Given the description of an element on the screen output the (x, y) to click on. 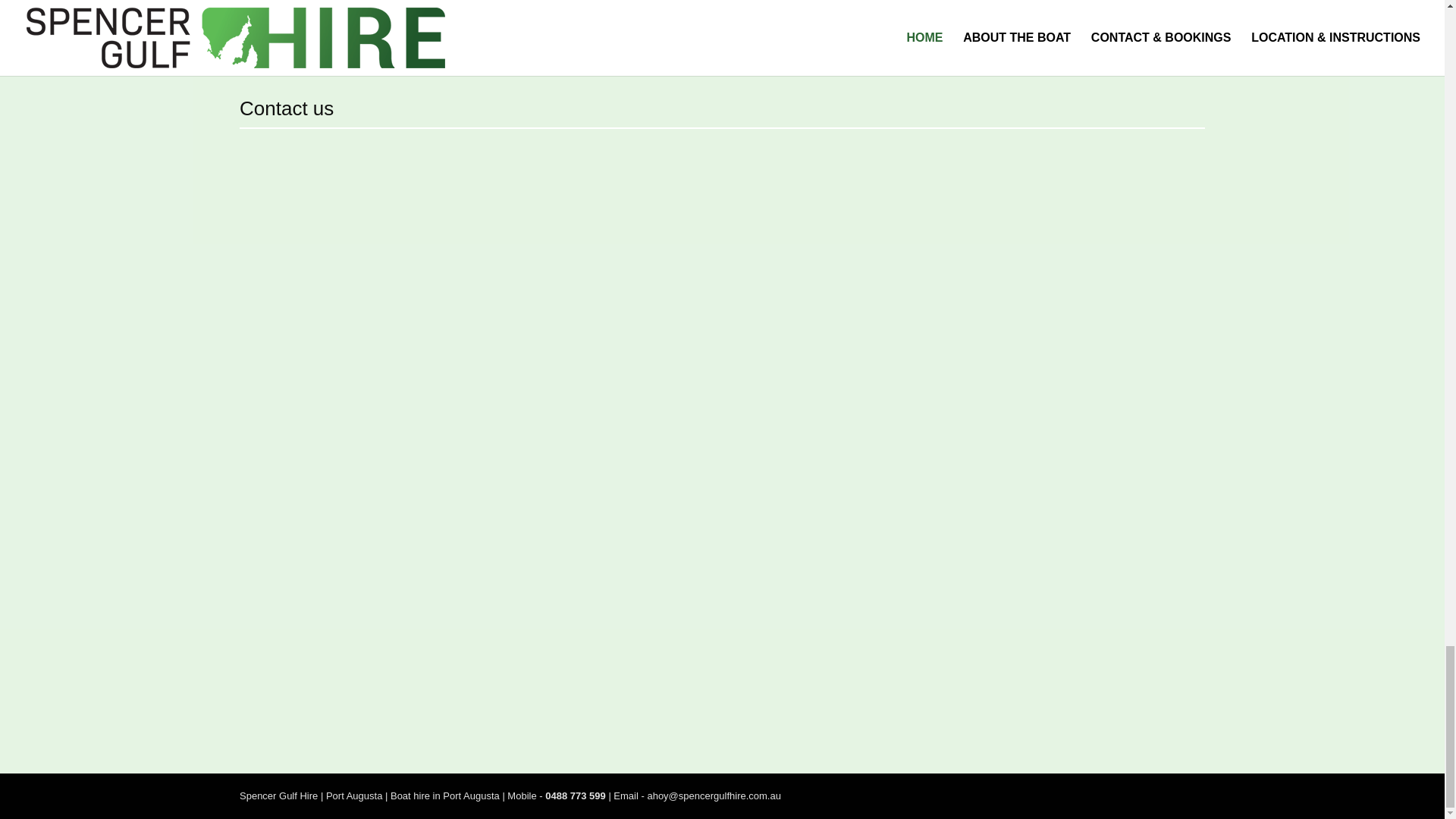
0488 773 599 (575, 795)
